Given the description of an element on the screen output the (x, y) to click on. 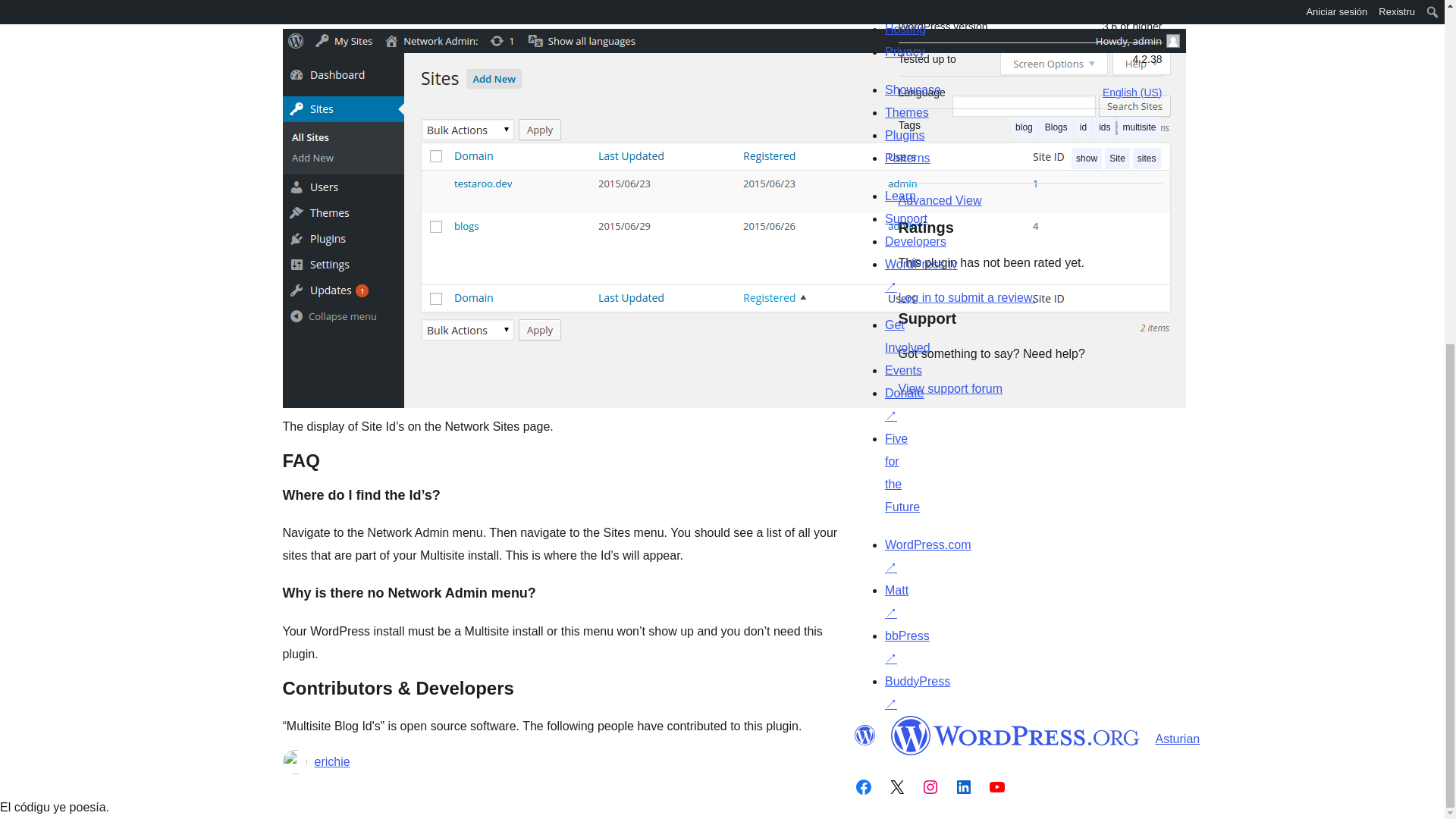
WordPress.org (1014, 735)
WordPress.org (864, 735)
erichie (331, 761)
Log in to WordPress.org (966, 297)
blog (1023, 127)
